Given the description of an element on the screen output the (x, y) to click on. 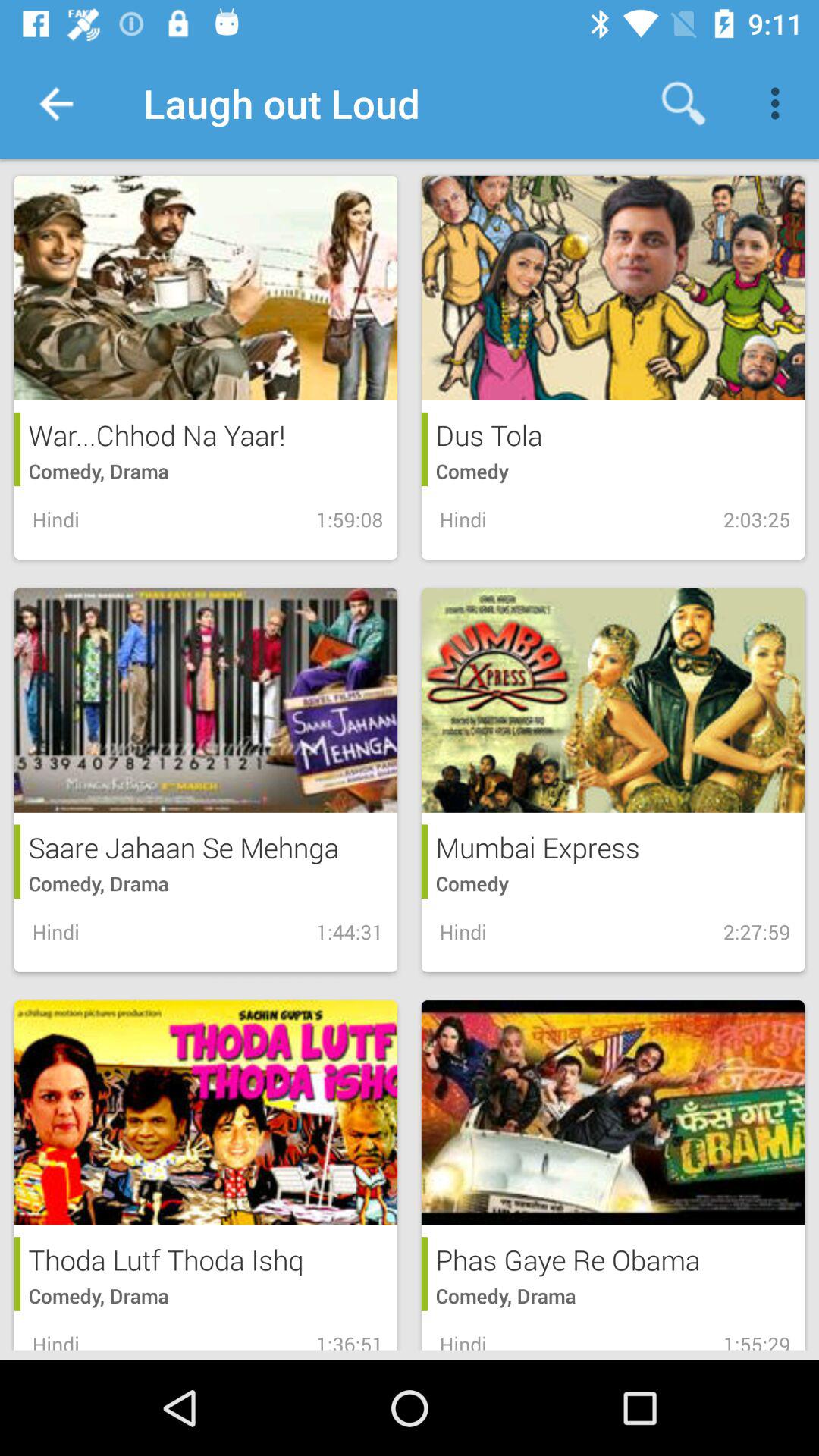
launch the icon to the left of laugh out loud (55, 103)
